Given the description of an element on the screen output the (x, y) to click on. 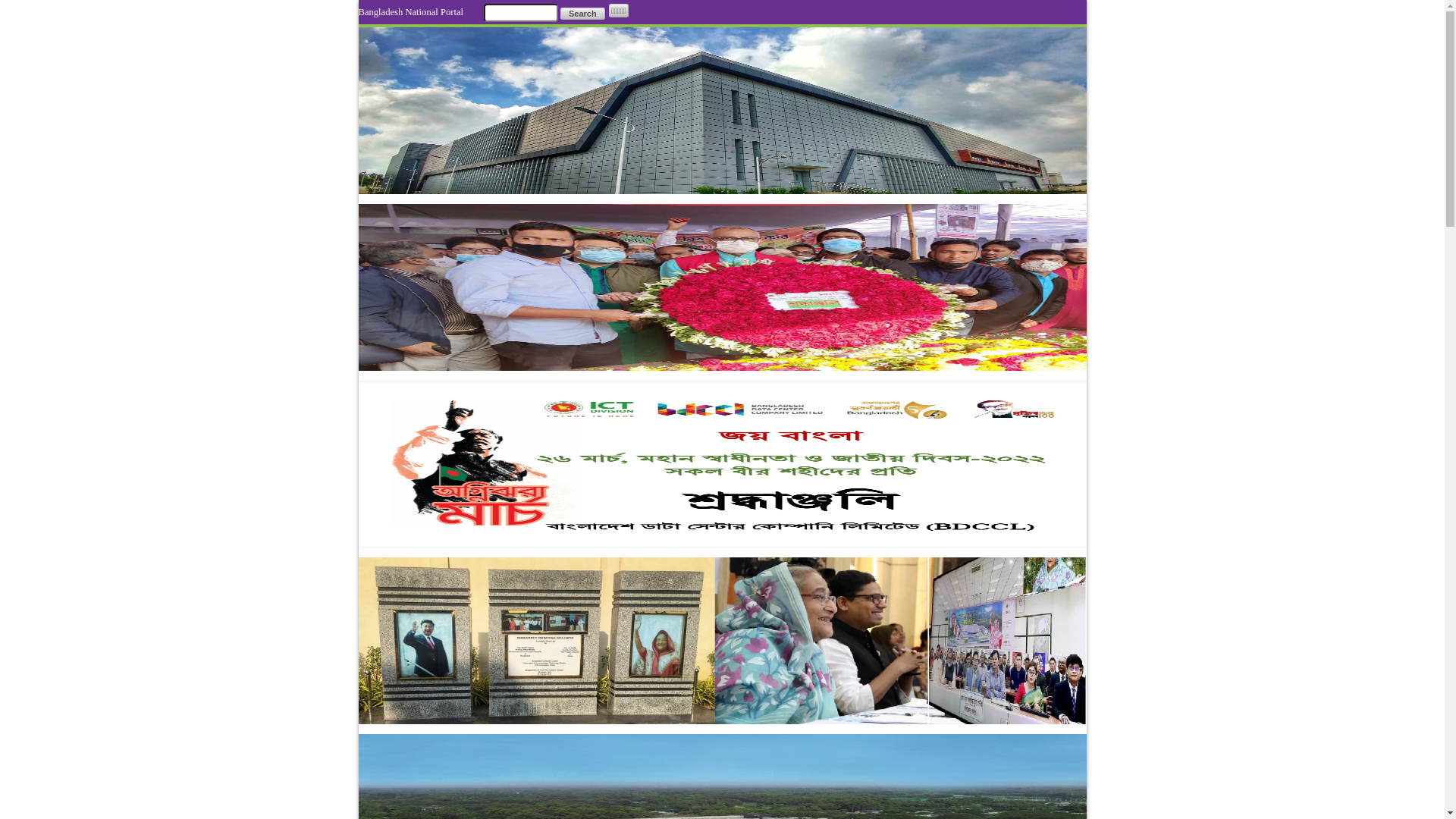
Bangladesh National Portal Element type: text (410, 11)
Search Element type: text (582, 13)
